Given the description of an element on the screen output the (x, y) to click on. 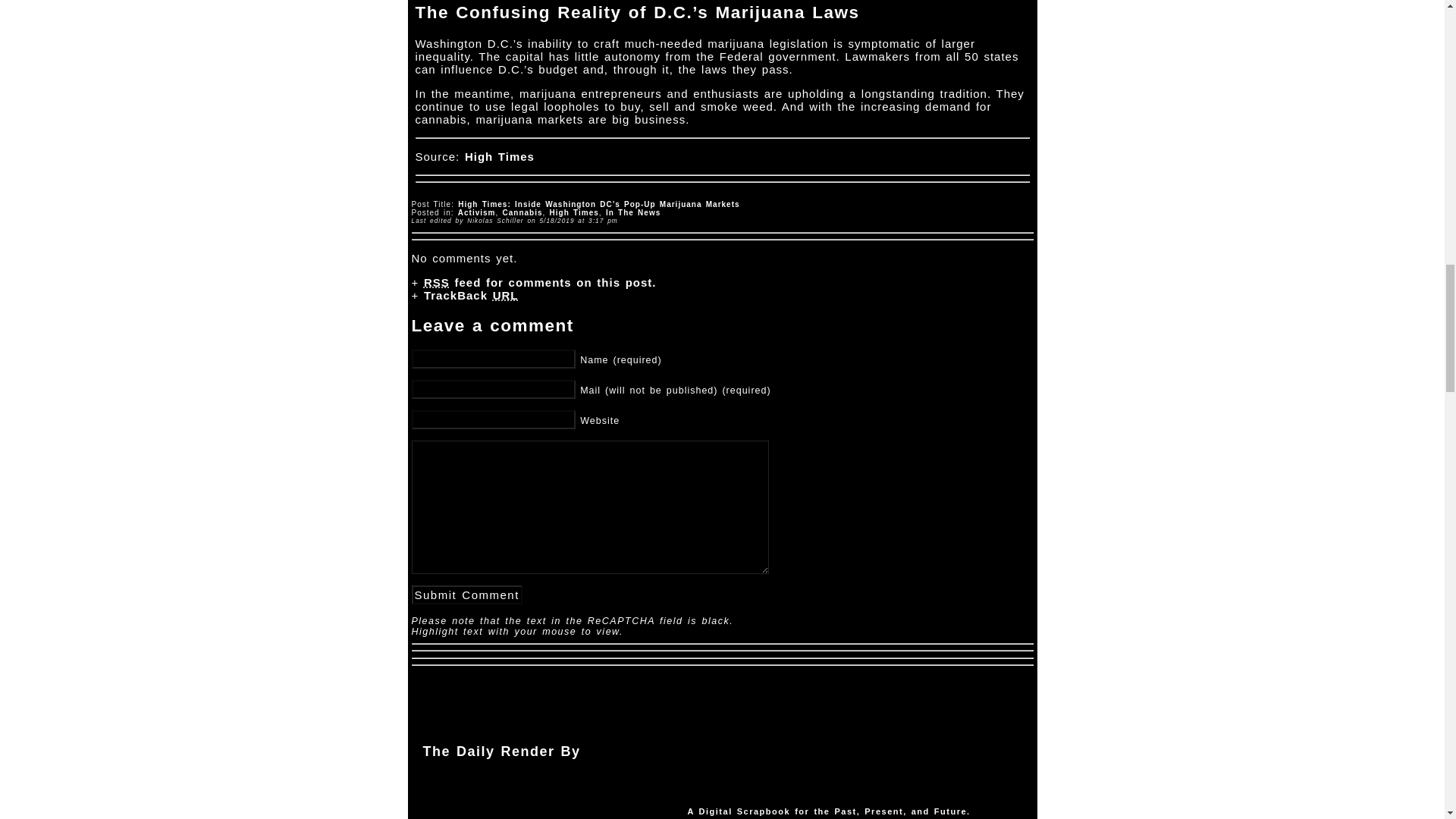
Cannabis (522, 212)
Universal Resource Locator (505, 295)
A Digital Scrapbook for the Past, Present, and Future. (828, 810)
TrackBack URL (470, 295)
RSS feed for comments on this post. (539, 282)
Really Simple Syndication (436, 282)
High Times (499, 155)
Submit Comment (465, 594)
In The News (633, 212)
High Times (574, 212)
Submit Comment (465, 594)
Activism (477, 212)
